Given the description of an element on the screen output the (x, y) to click on. 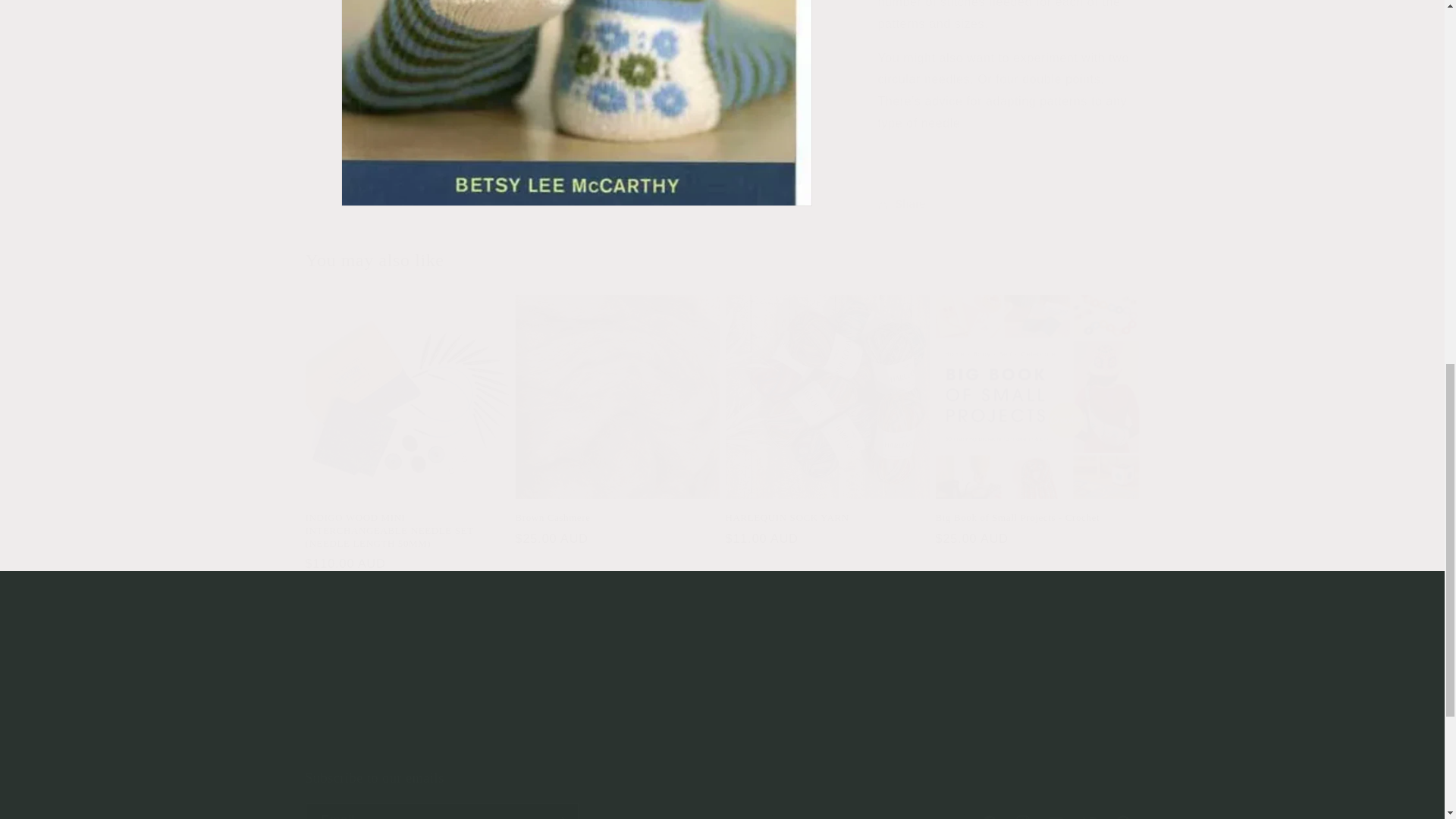
Open media 1 in modal (575, 15)
